Given the description of an element on the screen output the (x, y) to click on. 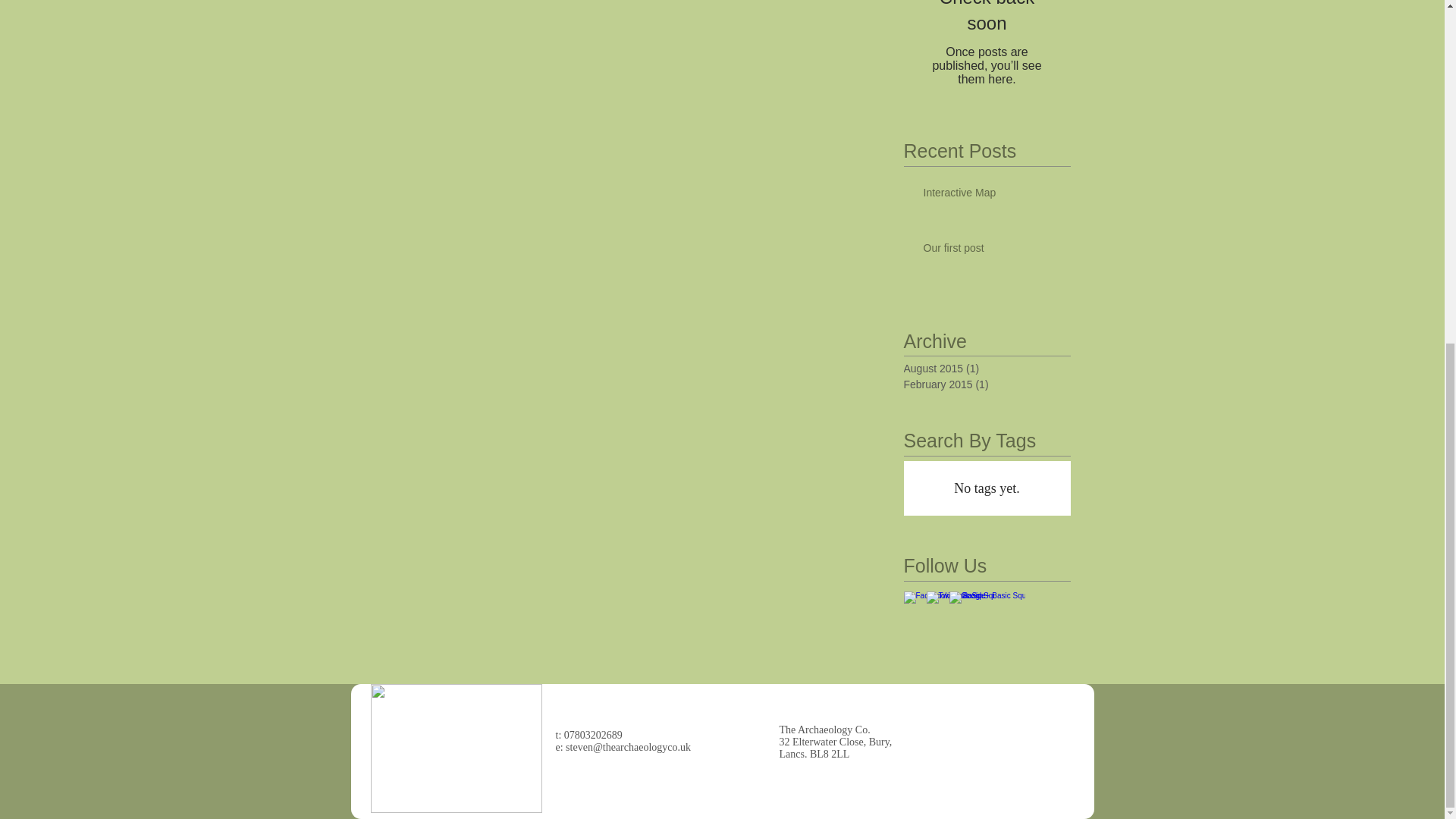
Interactive Map (992, 196)
Our first post (992, 251)
